Given the description of an element on the screen output the (x, y) to click on. 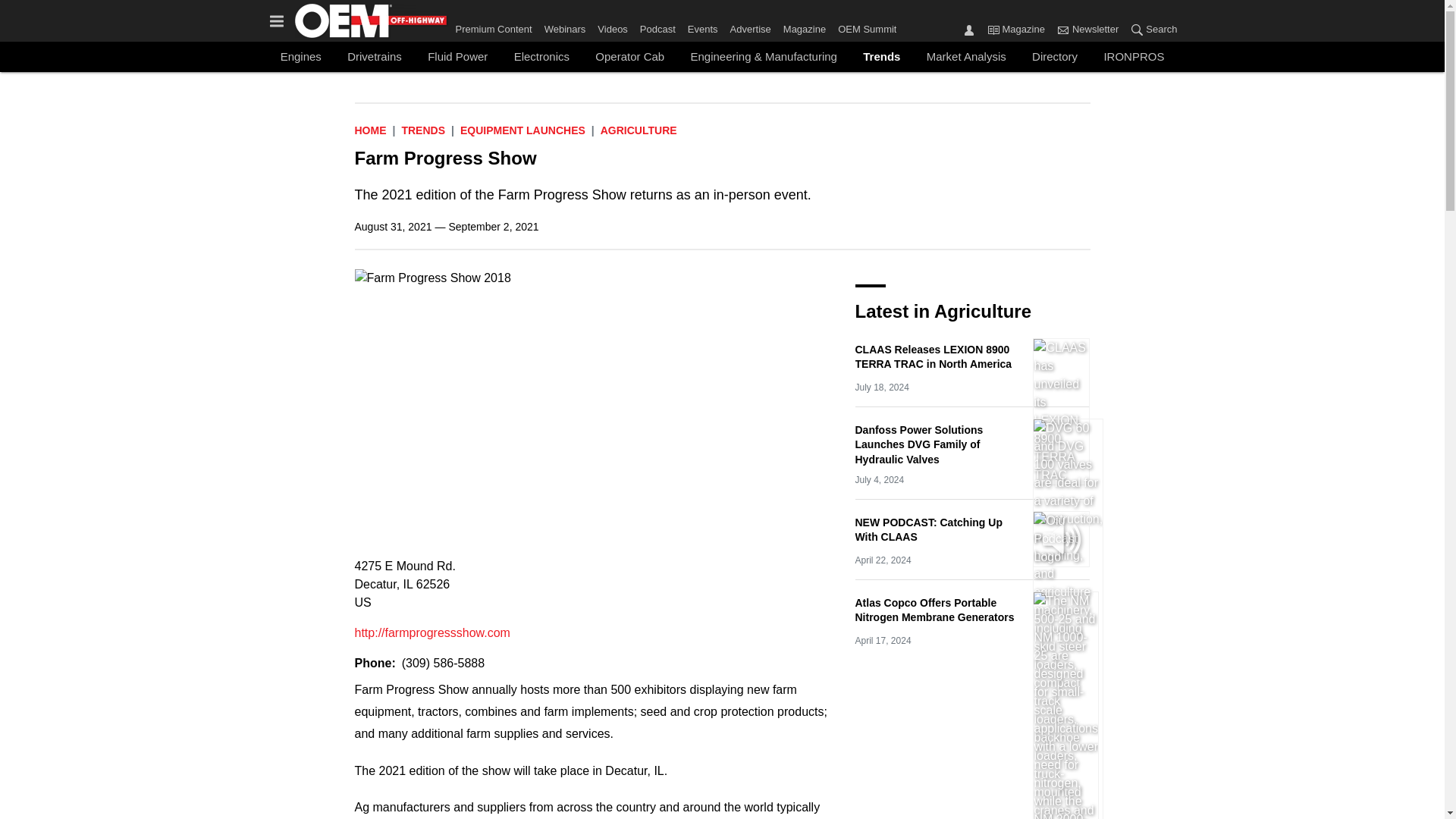
Directory (1054, 56)
Search (1150, 29)
Newsletter (1062, 29)
Operator Cab (629, 56)
Magazine (1016, 29)
Newsletter (1087, 29)
Drivetrains (374, 56)
Advertise (750, 26)
Events (702, 26)
Webinars (565, 26)
Podcast (657, 26)
Sign In (968, 29)
Equipment Launches (522, 130)
Agriculture (638, 130)
Magazine (992, 29)
